Given the description of an element on the screen output the (x, y) to click on. 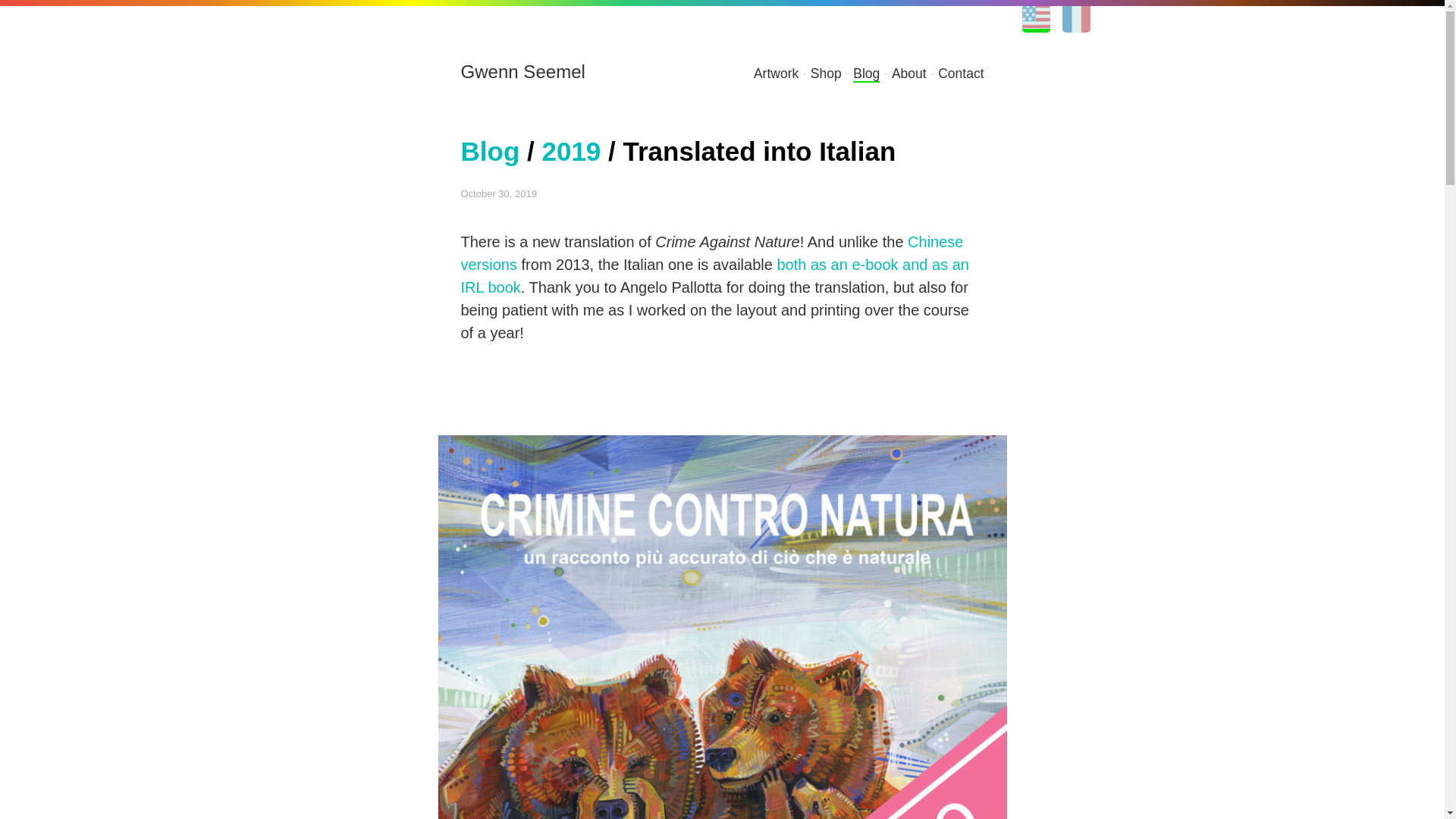
Blog (490, 151)
Gwenn Seemel (523, 71)
2019 (570, 151)
